Given the description of an element on the screen output the (x, y) to click on. 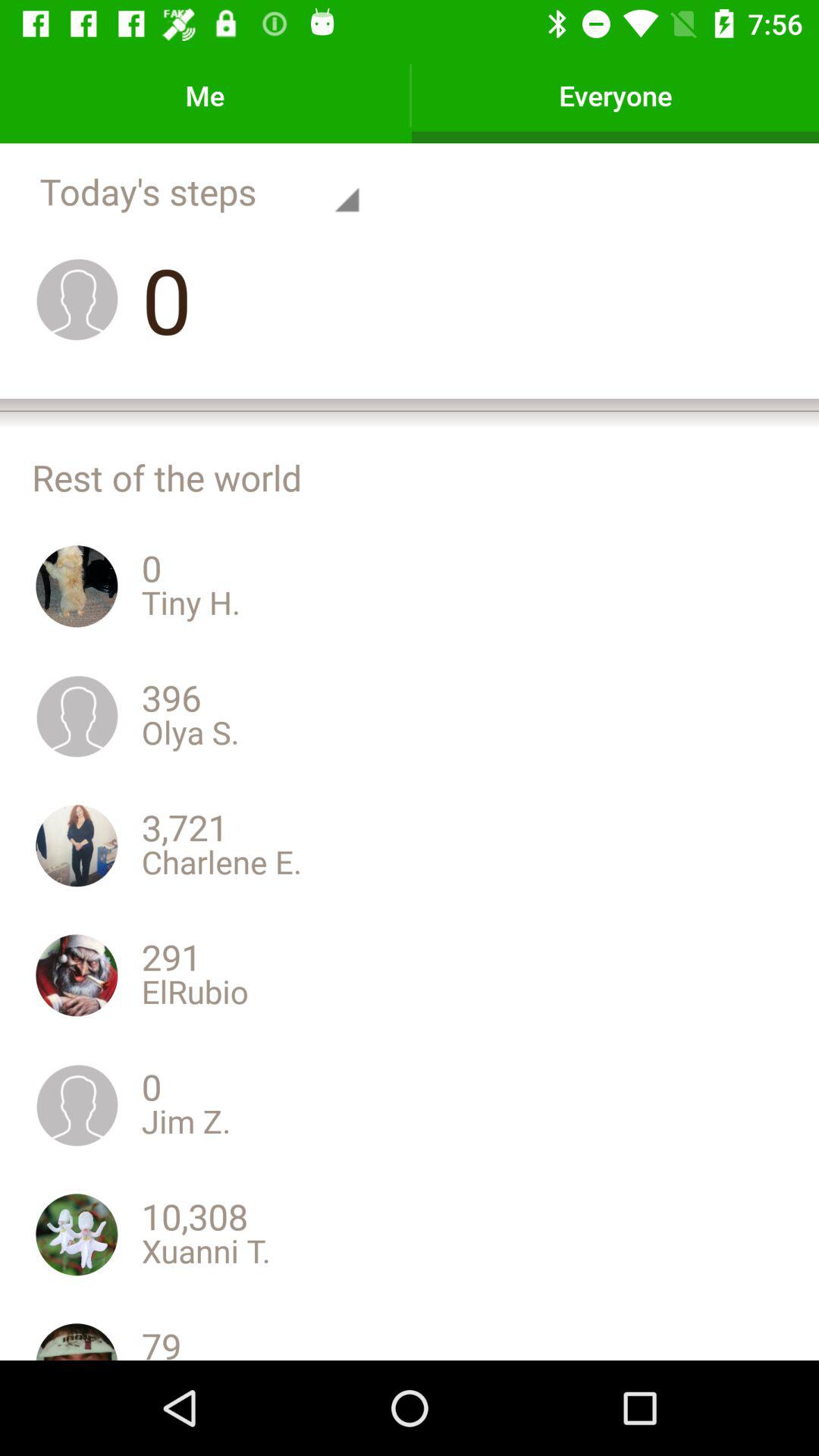
click on the profile to the left of 79 (76, 1339)
